Given the description of an element on the screen output the (x, y) to click on. 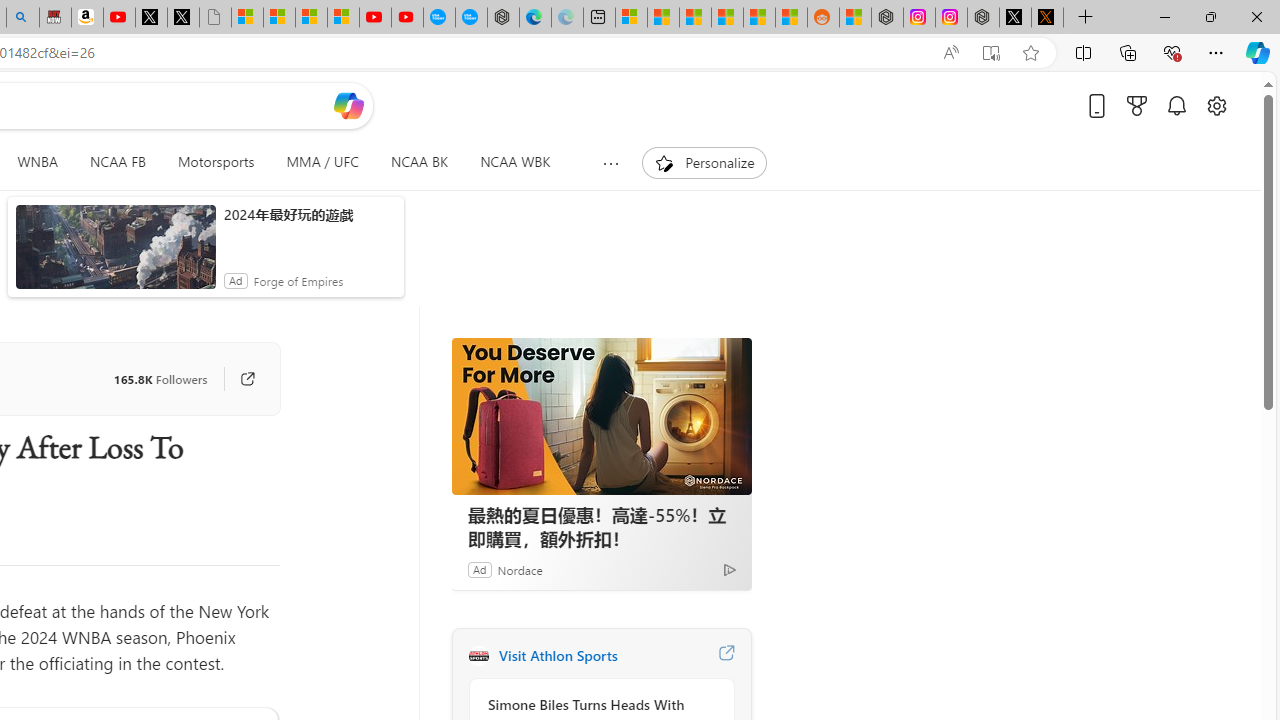
Motorsports (216, 162)
X (182, 17)
Shanghai, China Weather trends | Microsoft Weather (791, 17)
Athlon Sports (478, 655)
Notifications (1176, 105)
Go to publisher's site (237, 378)
New tab (599, 17)
NCAA WBK (515, 162)
Open Copilot (347, 105)
Copilot (Ctrl+Shift+.) (1258, 52)
